Given the description of an element on the screen output the (x, y) to click on. 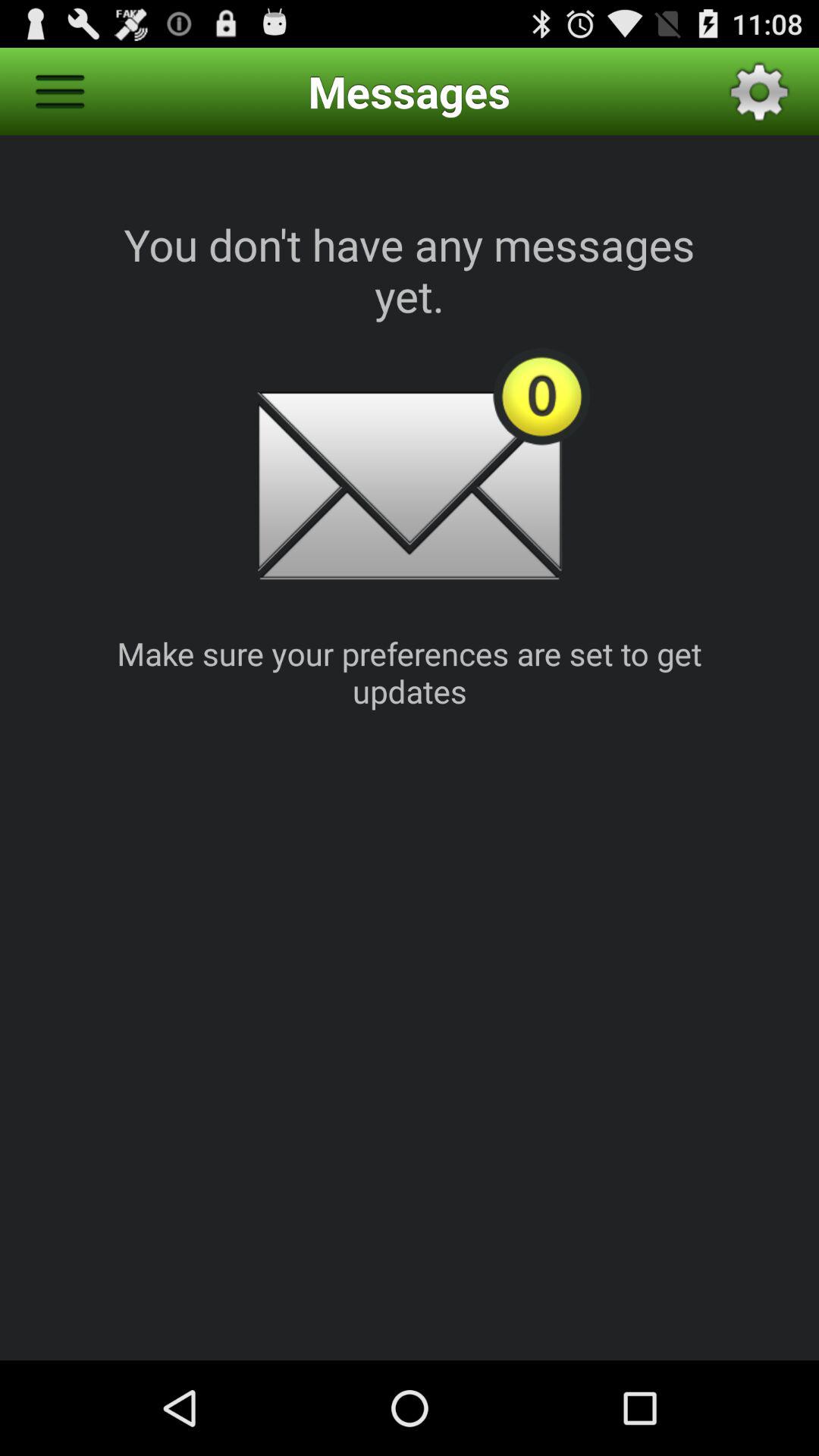
click the icon to the right of the messages icon (759, 91)
